Given the description of an element on the screen output the (x, y) to click on. 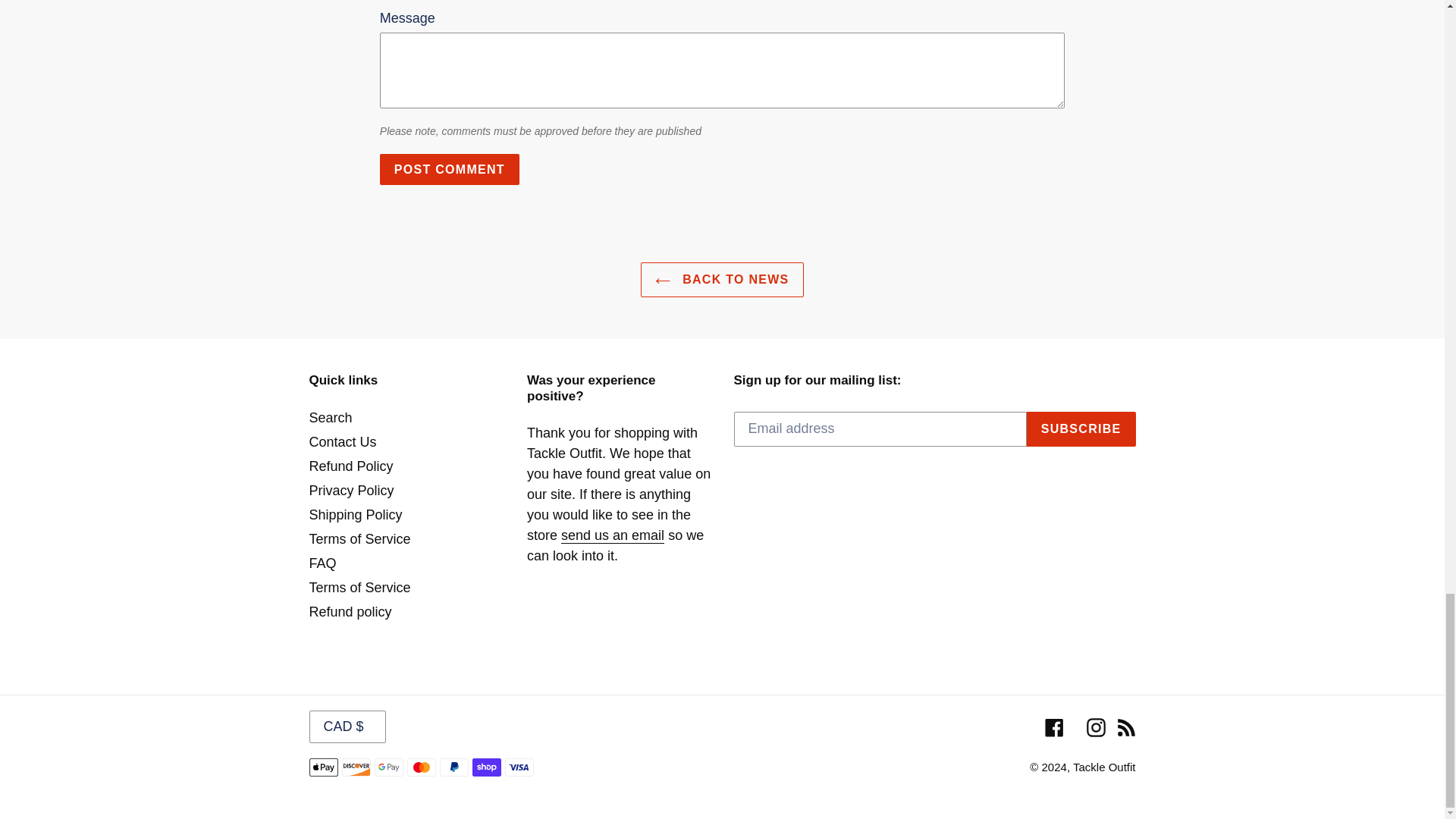
send us an email (611, 535)
Post comment (449, 169)
